Given the description of an element on the screen output the (x, y) to click on. 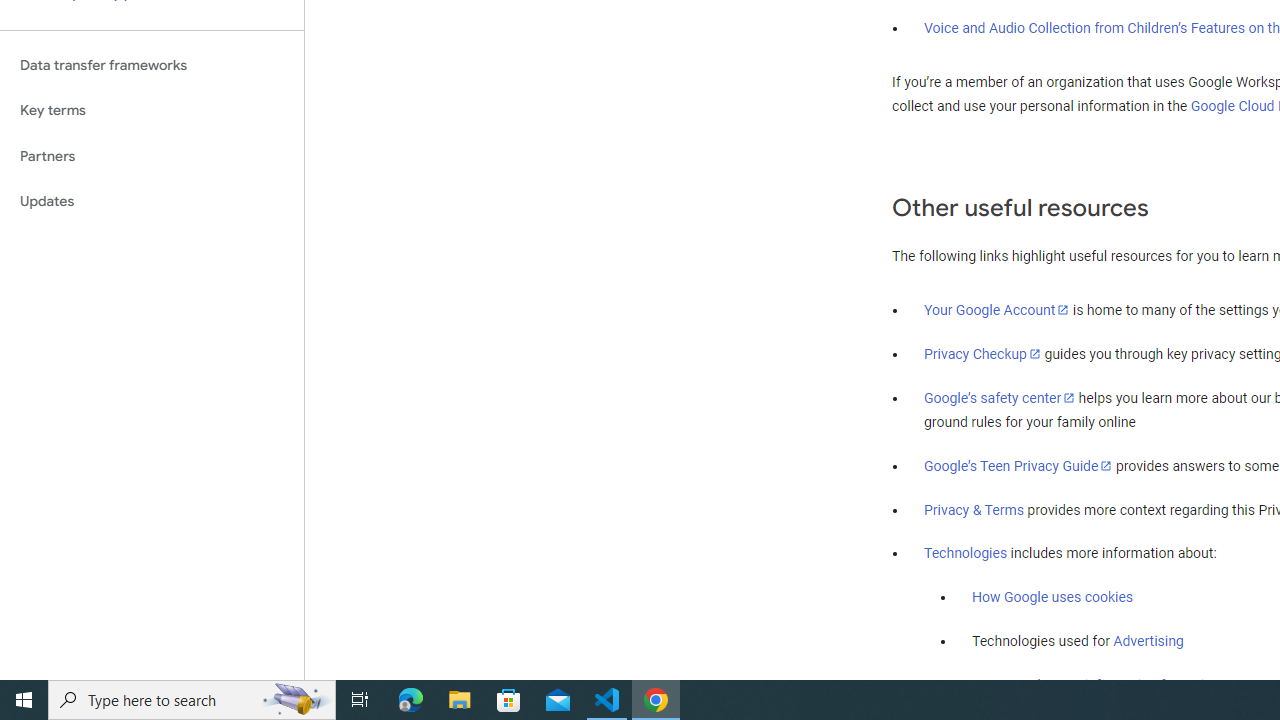
How Google uses cookies (1052, 597)
Updates (152, 201)
Privacy Checkup (982, 353)
Your Google Account (997, 309)
Advertising (1148, 641)
Privacy & Terms (974, 510)
Technologies (966, 554)
Key terms (152, 110)
Partners (152, 156)
Data transfer frameworks (152, 65)
